Given the description of an element on the screen output the (x, y) to click on. 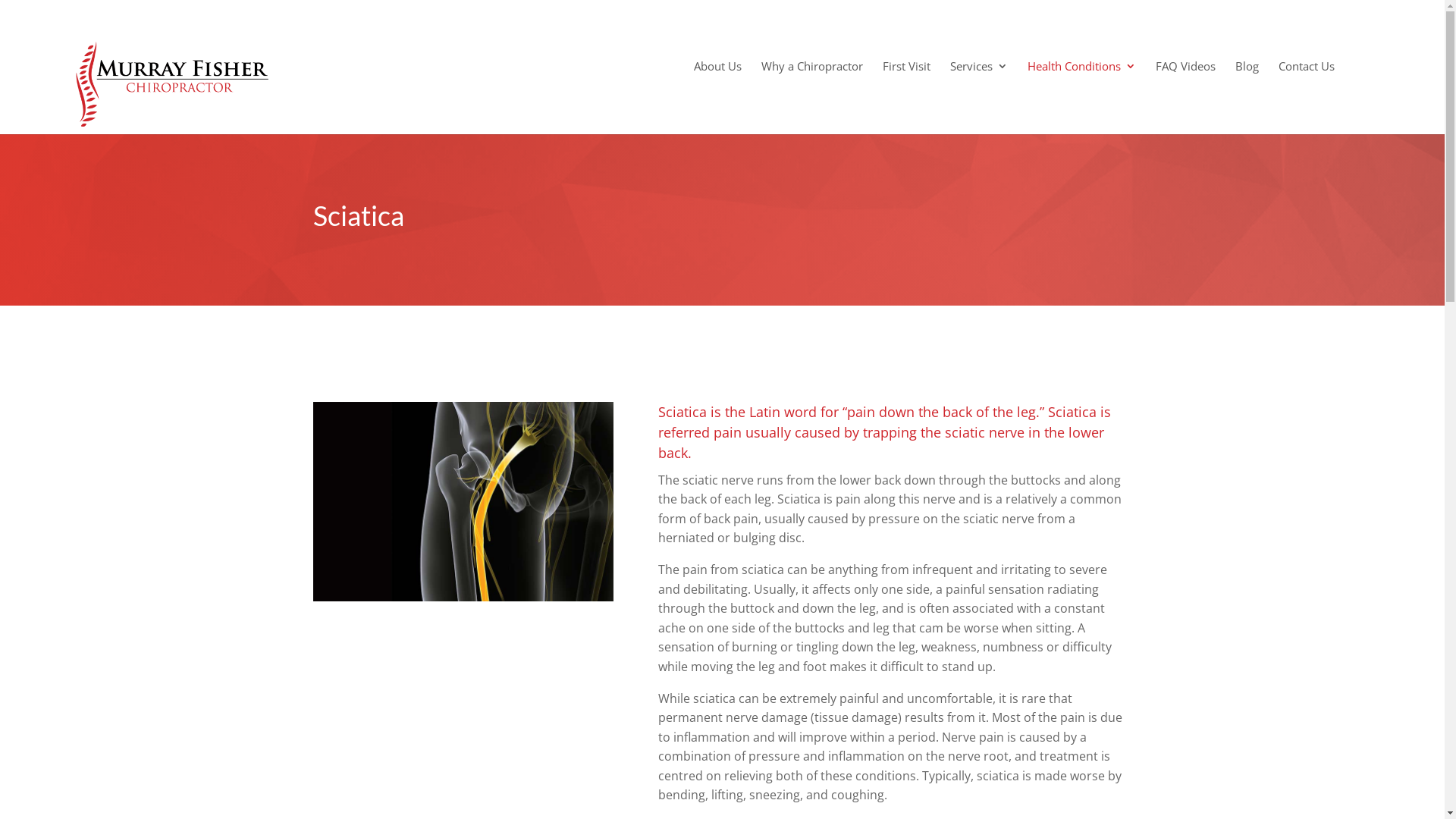
Why a Chiropractor Element type: text (811, 78)
Services Element type: text (978, 78)
Blog Element type: text (1246, 78)
About Us Element type: text (717, 78)
Contact Us Element type: text (1306, 78)
FAQ Videos Element type: text (1185, 78)
Health Conditions Element type: text (1081, 78)
First Visit Element type: text (906, 78)
